Given the description of an element on the screen output the (x, y) to click on. 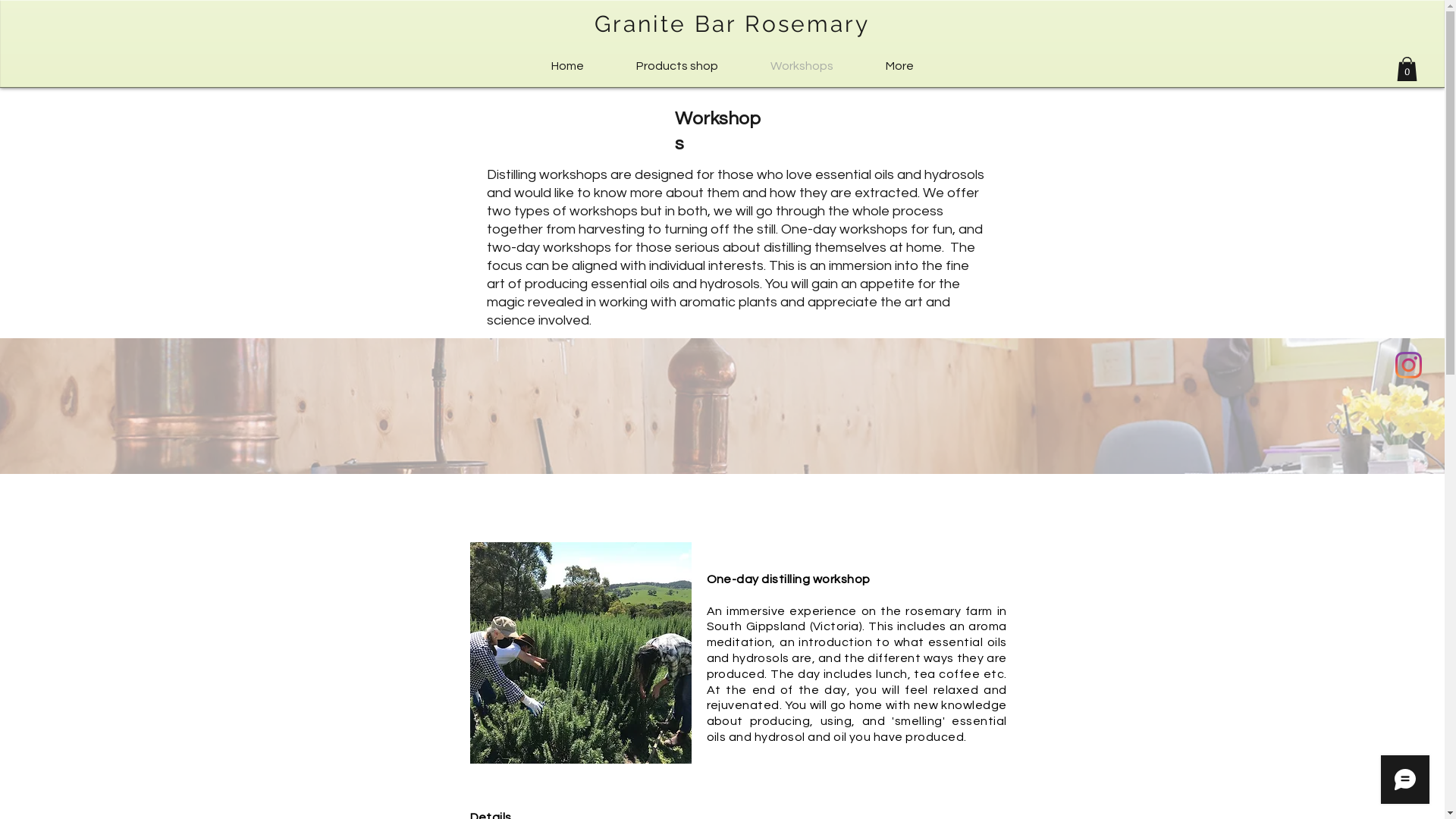
Granite Bar Rosemary Element type: text (731, 23)
Workshops Element type: text (801, 66)
Home Element type: text (566, 66)
Products shop Element type: text (676, 66)
0 Element type: text (1406, 68)
